Given the description of an element on the screen output the (x, y) to click on. 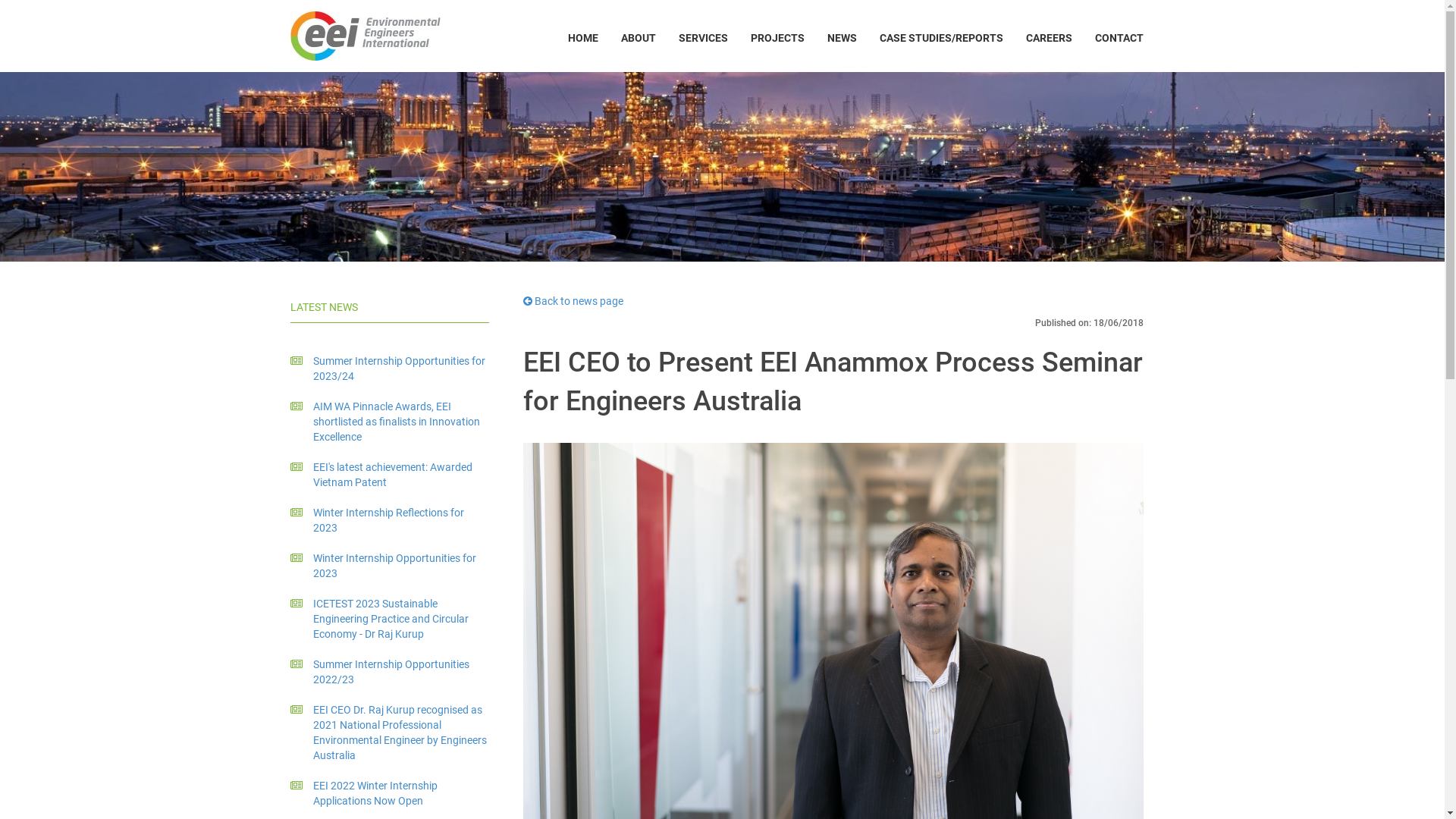
NEWS Element type: text (841, 37)
PROJECTS Element type: text (776, 37)
SERVICES Element type: text (703, 37)
EEI 2022 Winter Internship Applications Now Open Element type: text (389, 793)
Back to news page Element type: text (573, 300)
CASE STUDIES/REPORTS Element type: text (940, 37)
CONTACT Element type: text (1118, 37)
Summer Internship Opportunities 2022/23 Element type: text (389, 671)
ABOUT Element type: text (638, 37)
Winter Internship Reflections for 2023 Element type: text (389, 520)
EEI's latest achievement: Awarded Vietnam Patent Element type: text (389, 474)
HOME Element type: text (582, 37)
CAREERS Element type: text (1048, 37)
Summer Internship Opportunities for 2023/24 Element type: text (389, 368)
Winter Internship Opportunities for 2023 Element type: text (389, 565)
